Given the description of an element on the screen output the (x, y) to click on. 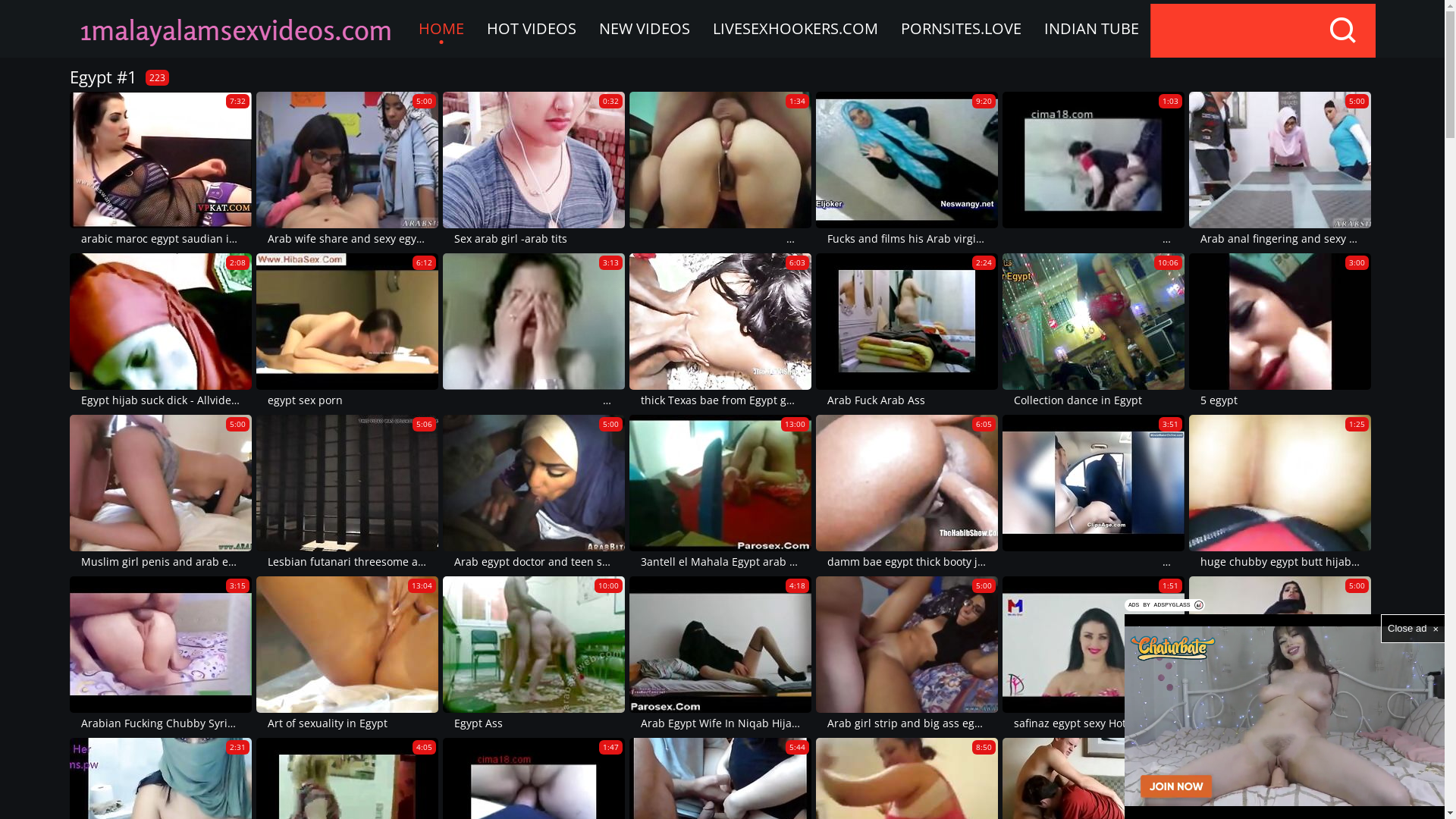
5:06
Lesbian futanari threesome adventure animation in Egypt Element type: text (347, 492)
6:05
damm bae egypt thick booty jiggle fucked Element type: text (906, 492)
0:32
Sex arab girl -arab tits Element type: text (533, 169)
LIVESEXHOOKERS.COM Element type: text (794, 28)
PORNSITES.LOVE Element type: text (960, 28)
5:00
Arab anal fingering and sexy egypt Art imitating life Element type: text (1280, 169)
1:51
safinaz egypt sexy Hot Belly Dance Safinaz Element type: text (1093, 654)
HOT VIDEOS Element type: text (530, 28)
4:18
Arab Egypt Wife In Niqab Hijab Extreme Analn Element type: text (720, 654)
ADS BY ADSPYGLASS Element type: text (1164, 605)
9:20
Fucks and films his Arab virgin girlfriend at home Element type: text (906, 169)
NEW VIDEOS Element type: text (643, 28)
10:06
Collection dance in Egypt Element type: text (1093, 331)
3:15
Arabian Fucking Chubby Syrian Ass Element type: text (160, 654)
13:00
3antell el Mahala Egypt arab sex Element type: text (720, 492)
7:32
arabic maroc egypt saudian iraq iran Banat sex Element type: text (160, 169)
1:25
huge chubby egypt butt hijab fuked Element type: text (1280, 492)
2:24
Arab Fuck Arab Ass Element type: text (906, 331)
6:12
egypt sex porn Element type: text (347, 331)
HOME Element type: text (440, 28)
3:00
5 egypt Element type: text (1280, 331)
INDIAN TUBE Element type: text (1091, 28)
10:00
Egypt Ass Element type: text (533, 654)
2:08
Egypt hijab suck dick - Allvideosx.com Element type: text (160, 331)
13:04
Art of sexuality in Egypt Element type: text (347, 654)
